Given the description of an element on the screen output the (x, y) to click on. 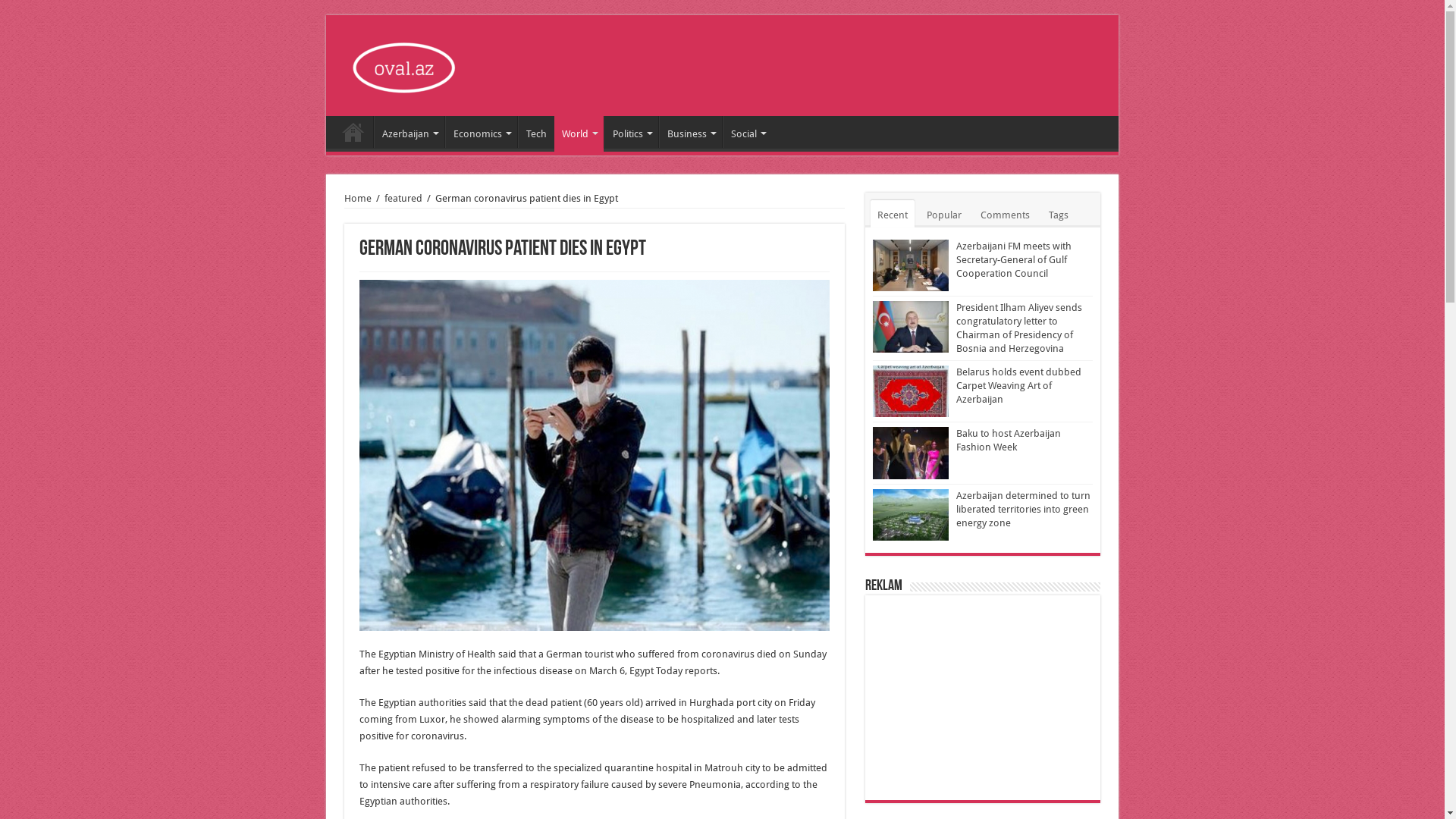
Tags Element type: text (1058, 213)
Comments Element type: text (1004, 213)
Recent Element type: text (892, 213)
Politics Element type: text (631, 131)
Azerbaijan Element type: text (408, 131)
Home Element type: text (353, 131)
featured Element type: text (403, 197)
World Element type: text (578, 131)
Business Element type: text (689, 131)
Belarus holds event dubbed Carpet Weaving Art of Azerbaijan Element type: text (1018, 385)
Tech Element type: text (535, 131)
Economics Element type: text (481, 131)
Popular Element type: text (943, 213)
Baku to host Azerbaijan Fashion Week Element type: text (1008, 439)
Home Element type: text (357, 197)
Oval Element type: hover (406, 63)
Social Element type: text (746, 131)
